Given the description of an element on the screen output the (x, y) to click on. 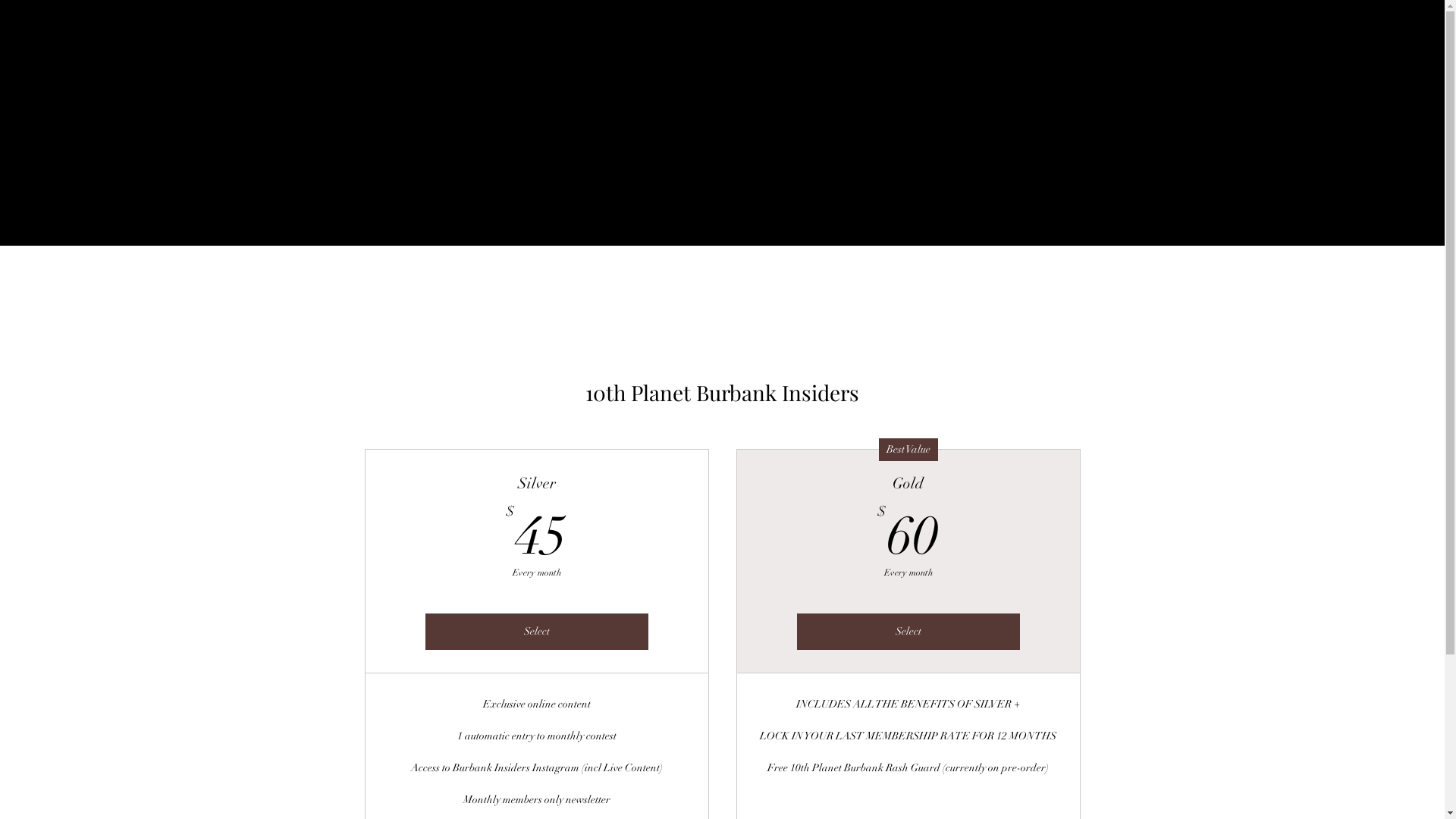
Select Element type: text (535, 631)
Select Element type: text (907, 631)
